Given the description of an element on the screen output the (x, y) to click on. 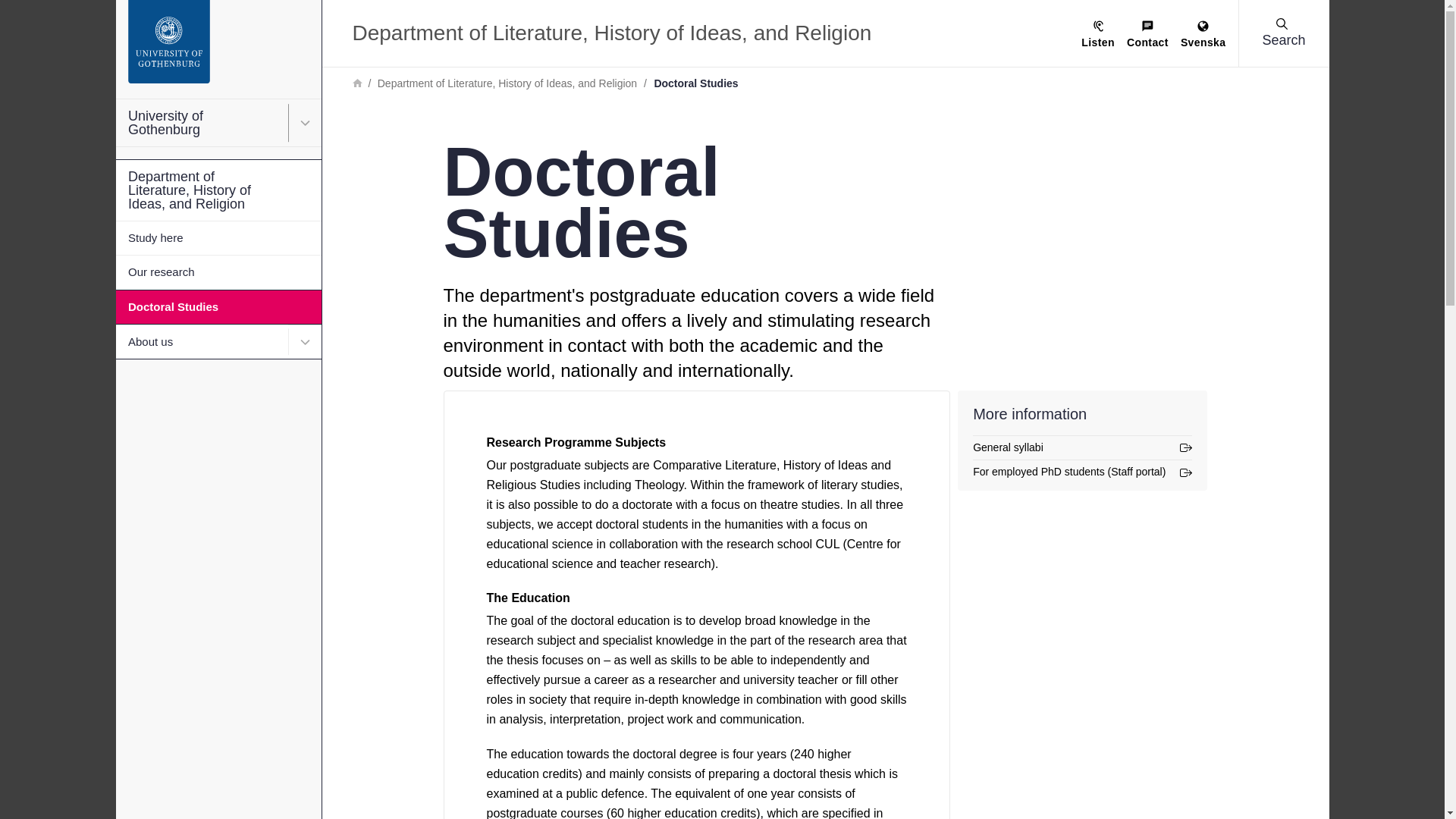
Listen with ReadSpeaker (1098, 35)
External link (1082, 472)
University of Gothenburg (217, 122)
Main menu for University of Gothenburg (304, 122)
Search function (105, 11)
External link (1082, 447)
